Given the description of an element on the screen output the (x, y) to click on. 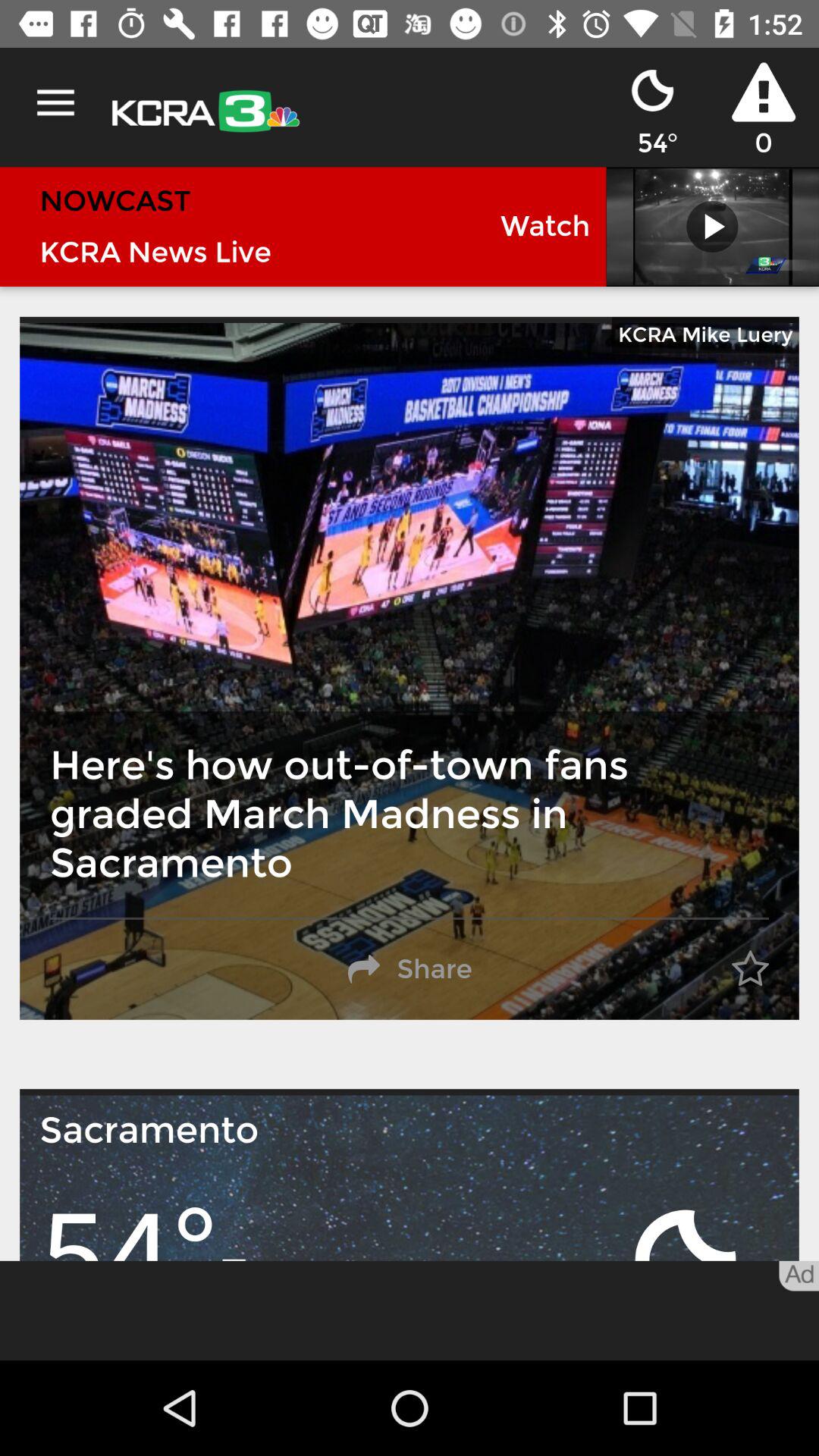
tap icon to the right of the share icon (750, 969)
